Given the description of an element on the screen output the (x, y) to click on. 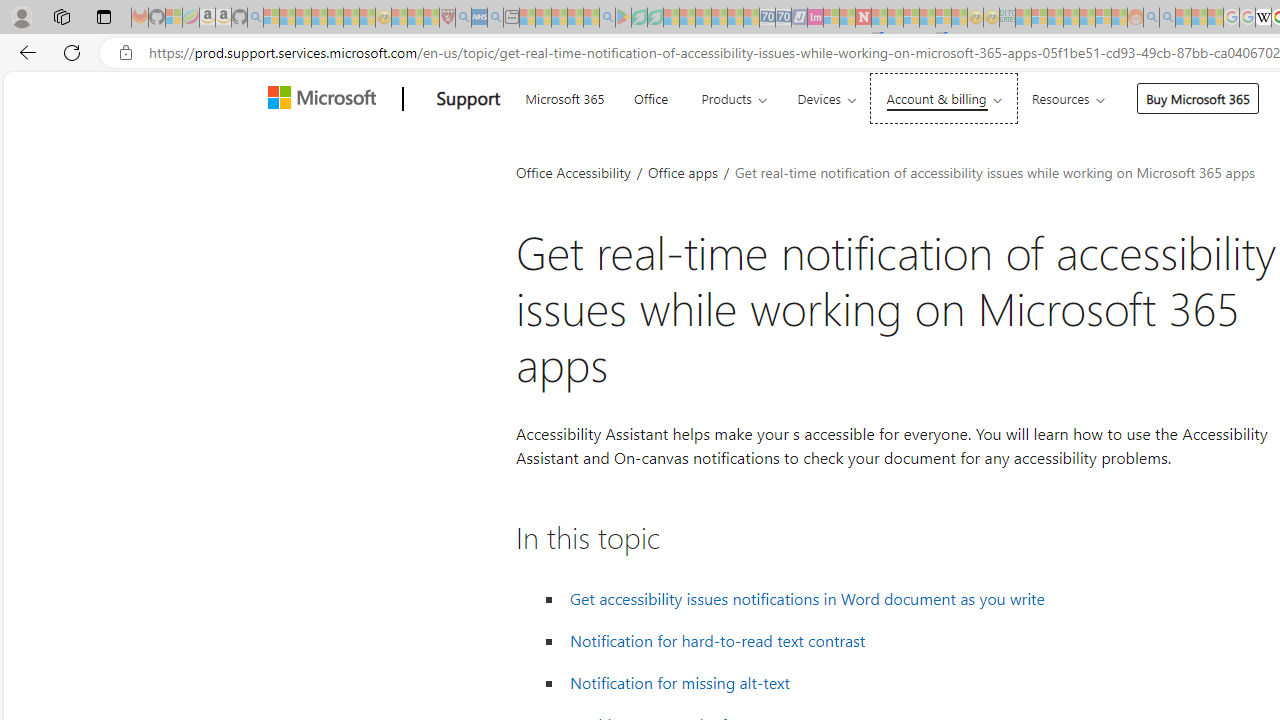
New Report Confirms 2023 Was Record Hot | Watch - Sleeping (335, 17)
Office (650, 96)
Target page - Wikipedia (1263, 17)
NCL Adult Asthma Inhaler Choice Guideline - Sleeping (479, 17)
New tab - Sleeping (511, 17)
Office Accessibility (573, 172)
14 Common Myths Debunked By Scientific Facts - Sleeping (895, 17)
MSNBC - MSN - Sleeping (1023, 17)
Robert H. Shmerling, MD - Harvard Health - Sleeping (447, 17)
Microsoft-Report a Concern to Bing - Sleeping (173, 17)
